Given the description of an element on the screen output the (x, y) to click on. 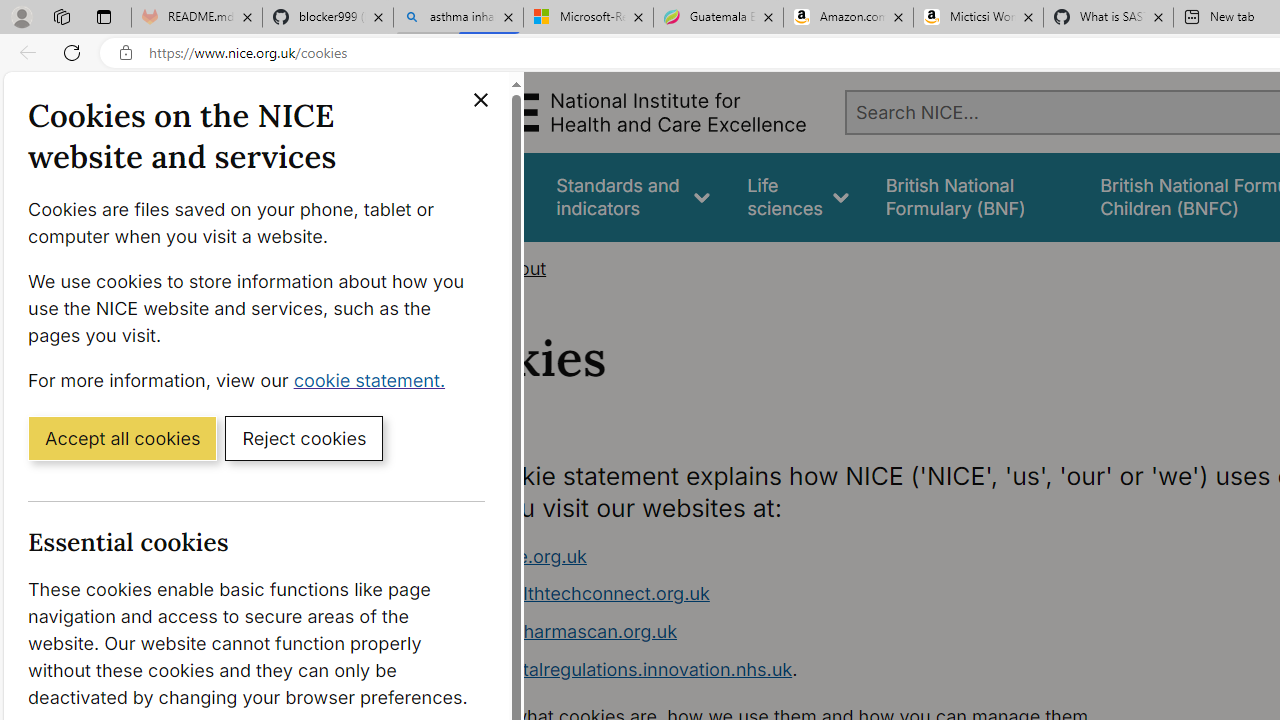
Close cookie banner (480, 99)
www.ukpharmascan.org.uk (560, 631)
About (520, 268)
www.digitalregulations.innovation.nhs.uk (617, 668)
